Given the description of an element on the screen output the (x, y) to click on. 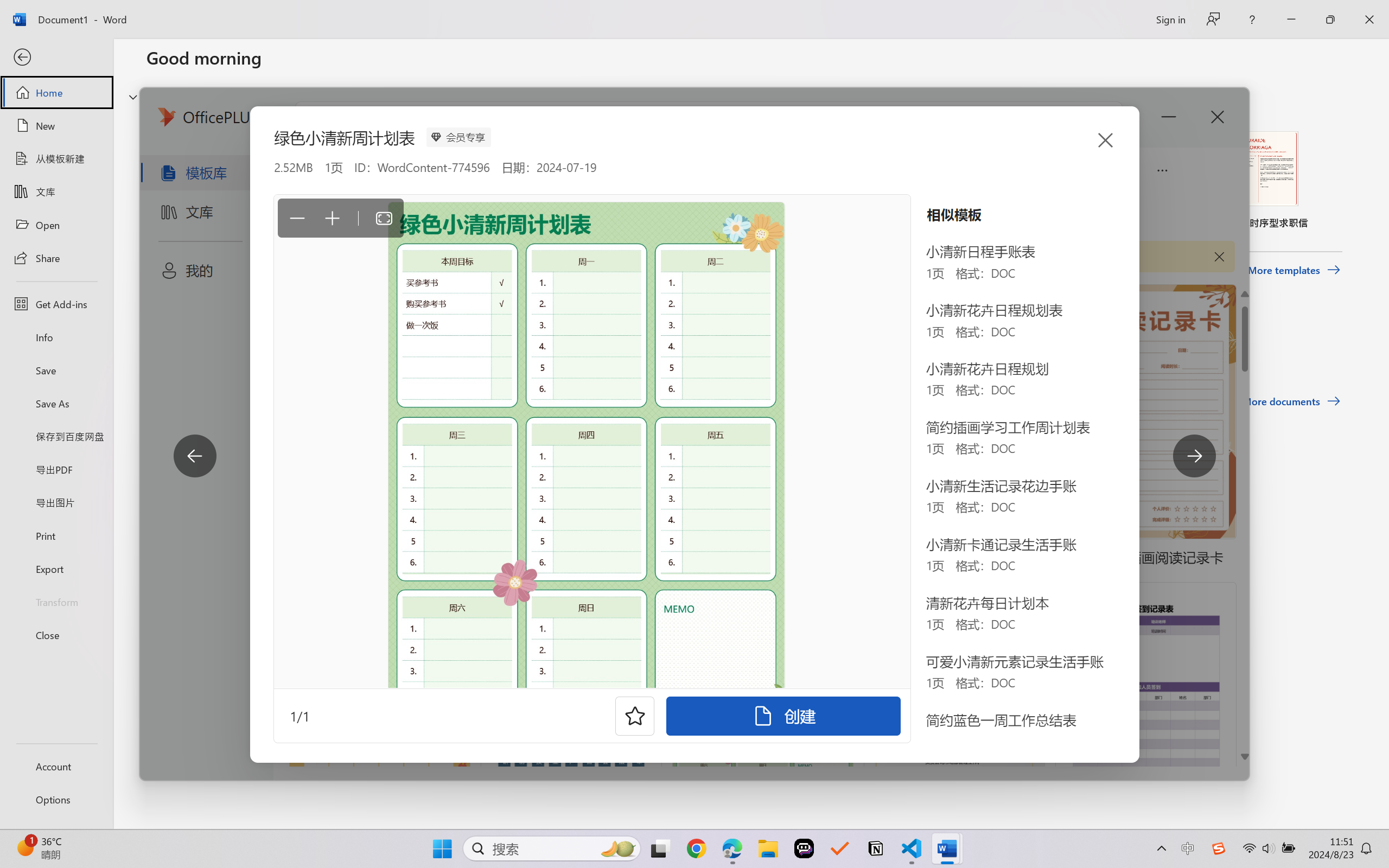
Options (56, 798)
